Given the description of an element on the screen output the (x, y) to click on. 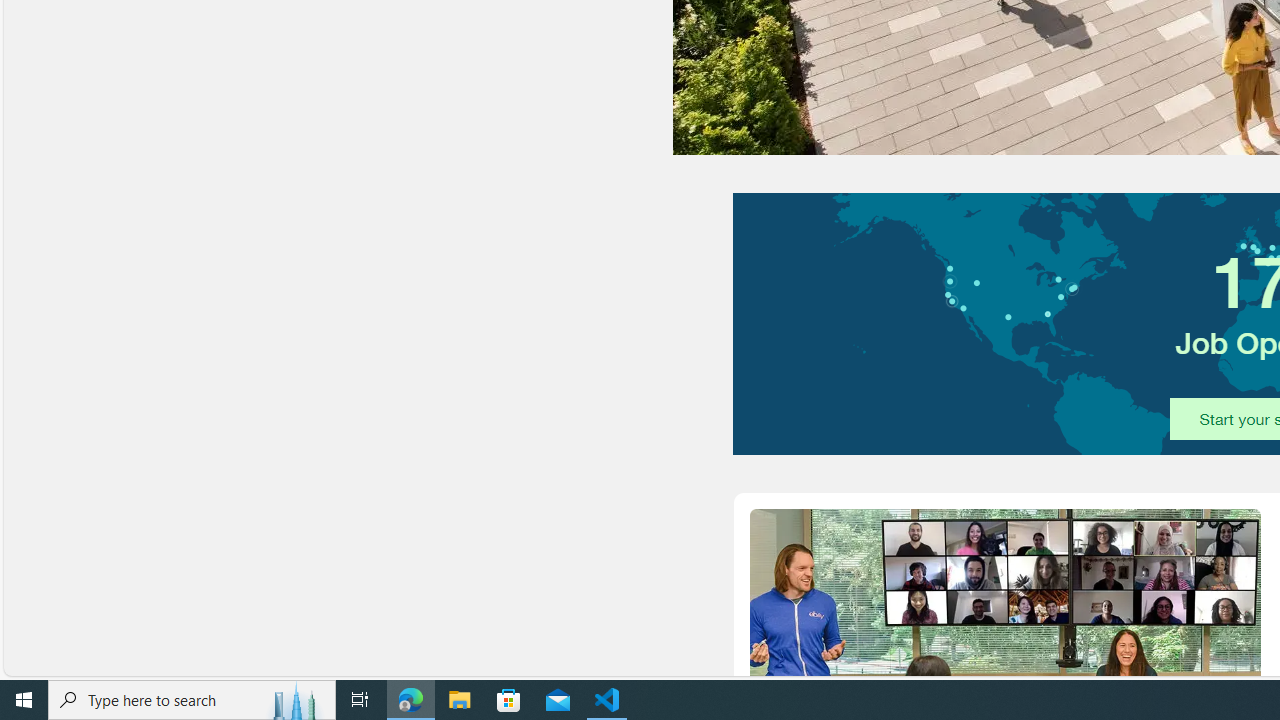
Microsoft Edge - 1 running window (411, 699)
Search highlights icon opens search home window (295, 699)
Visual Studio Code - 1 running window (607, 699)
Type here to search (191, 699)
Task View (359, 699)
Microsoft Store (509, 699)
Start (24, 699)
File Explorer (460, 699)
